Given the description of an element on the screen output the (x, y) to click on. 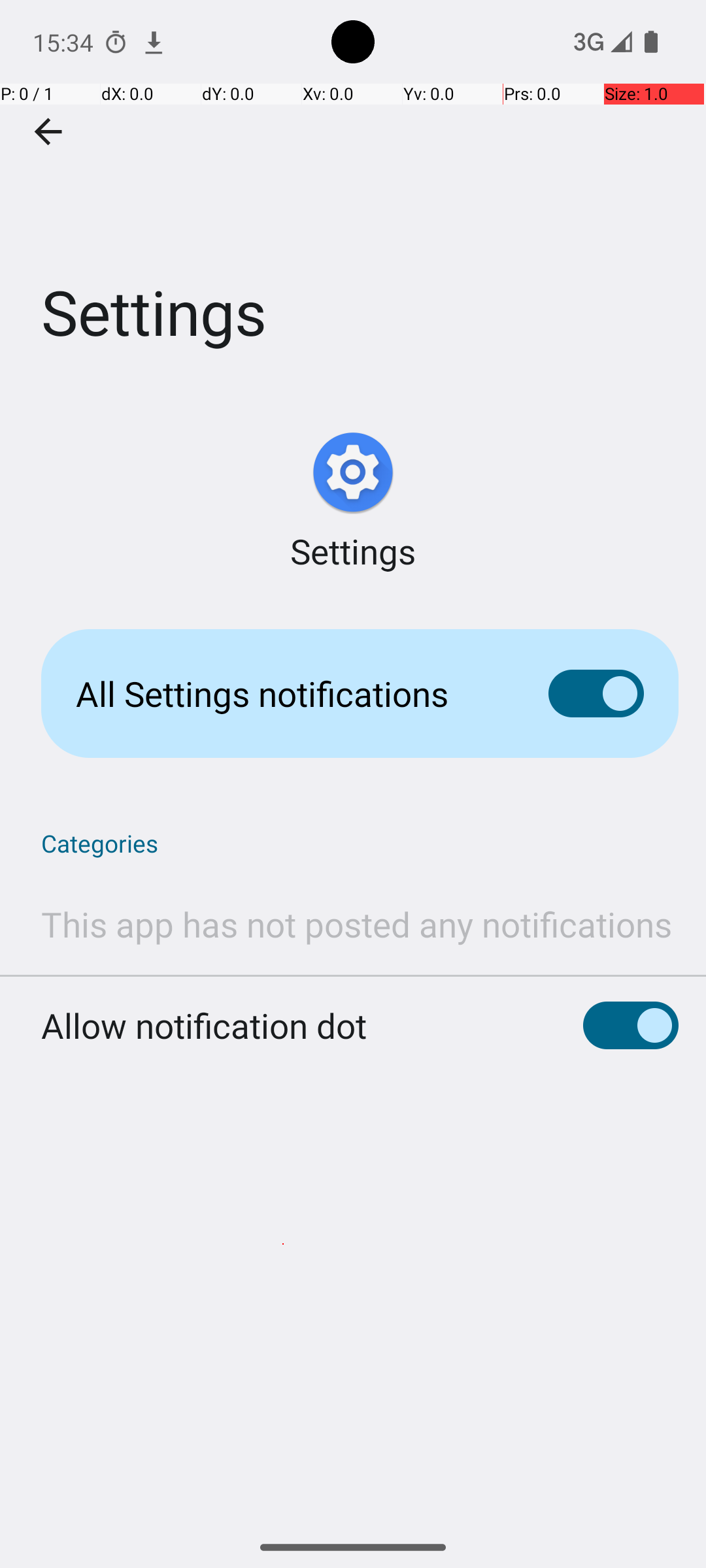
All Settings notifications Element type: android.widget.TextView (291, 693)
